Given the description of an element on the screen output the (x, y) to click on. 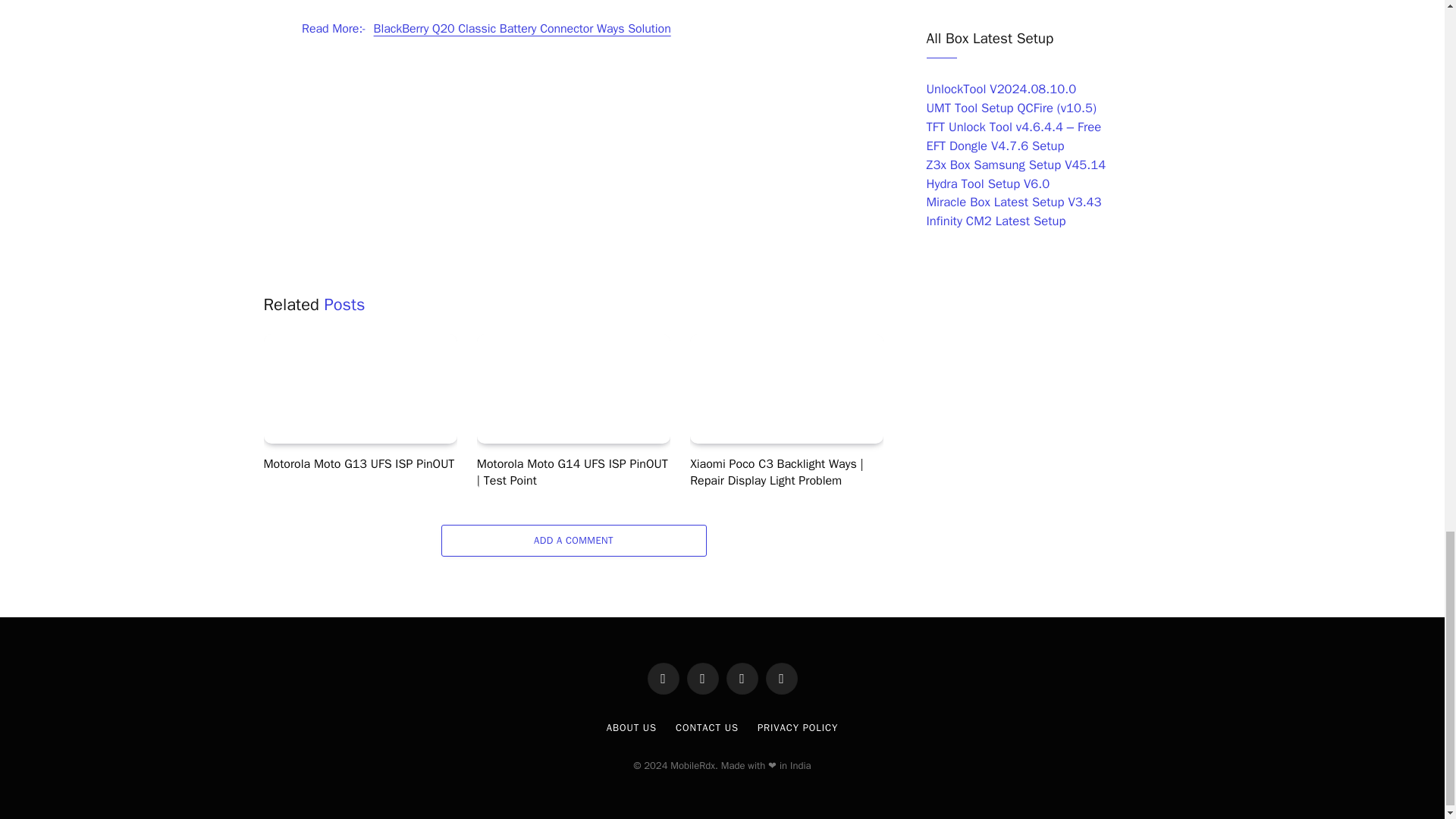
ADD A COMMENT (573, 540)
Motorola Moto G13 UFS ISP PinOUT (360, 463)
Motorola Moto G13 UFS ISP PinOUT (360, 388)
